Given the description of an element on the screen output the (x, y) to click on. 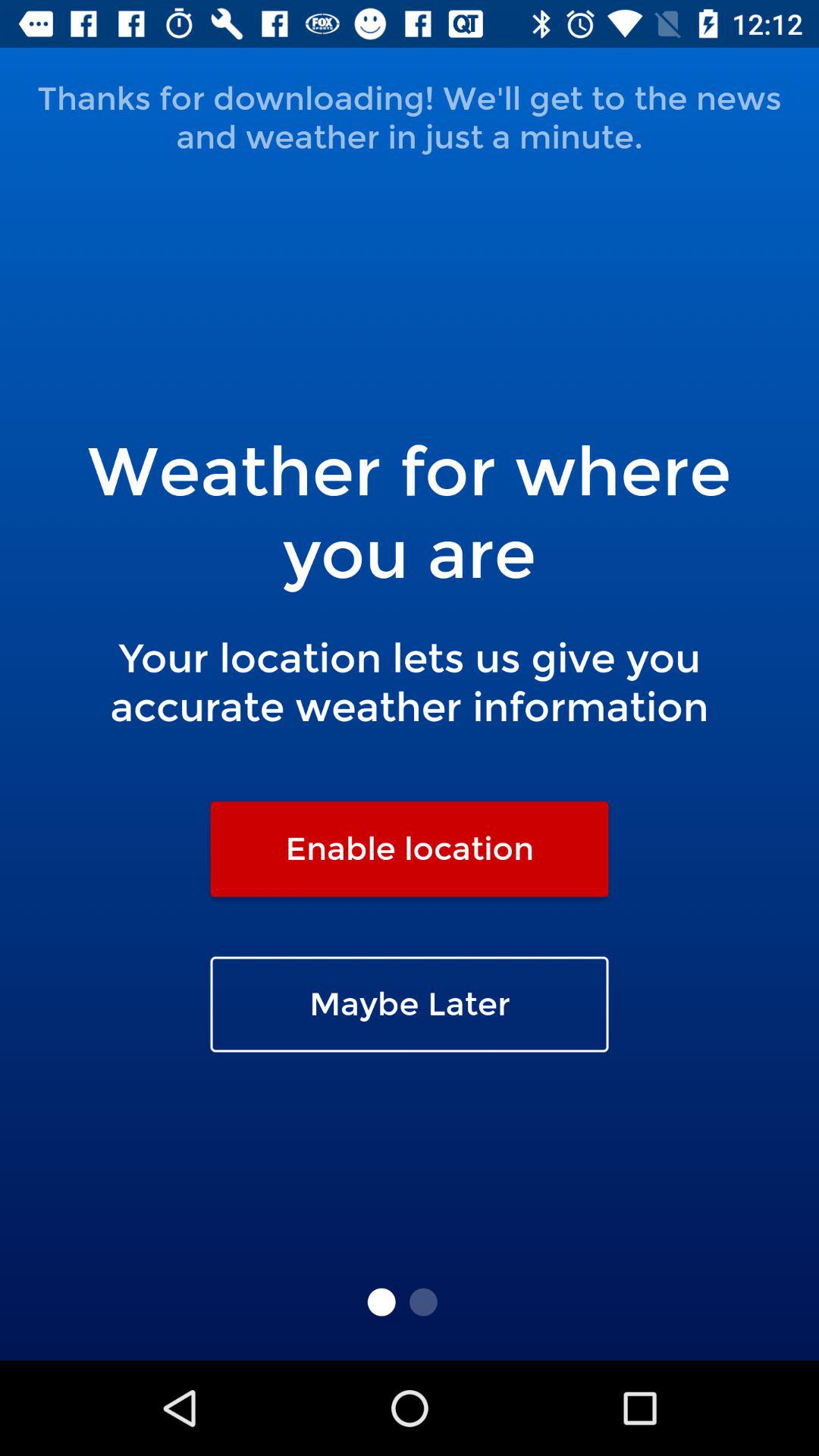
flip to maybe later (409, 1004)
